Given the description of an element on the screen output the (x, y) to click on. 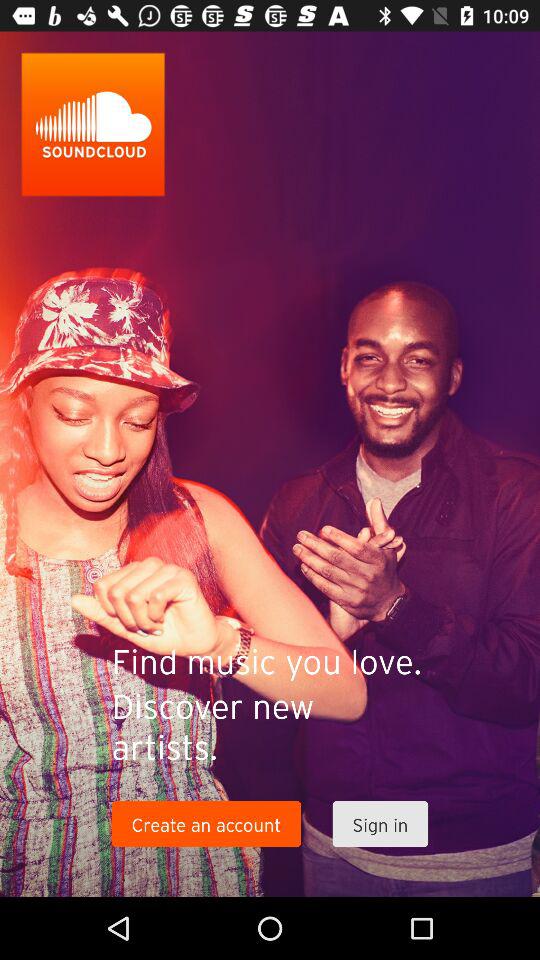
tap the icon next to create an account icon (380, 824)
